Given the description of an element on the screen output the (x, y) to click on. 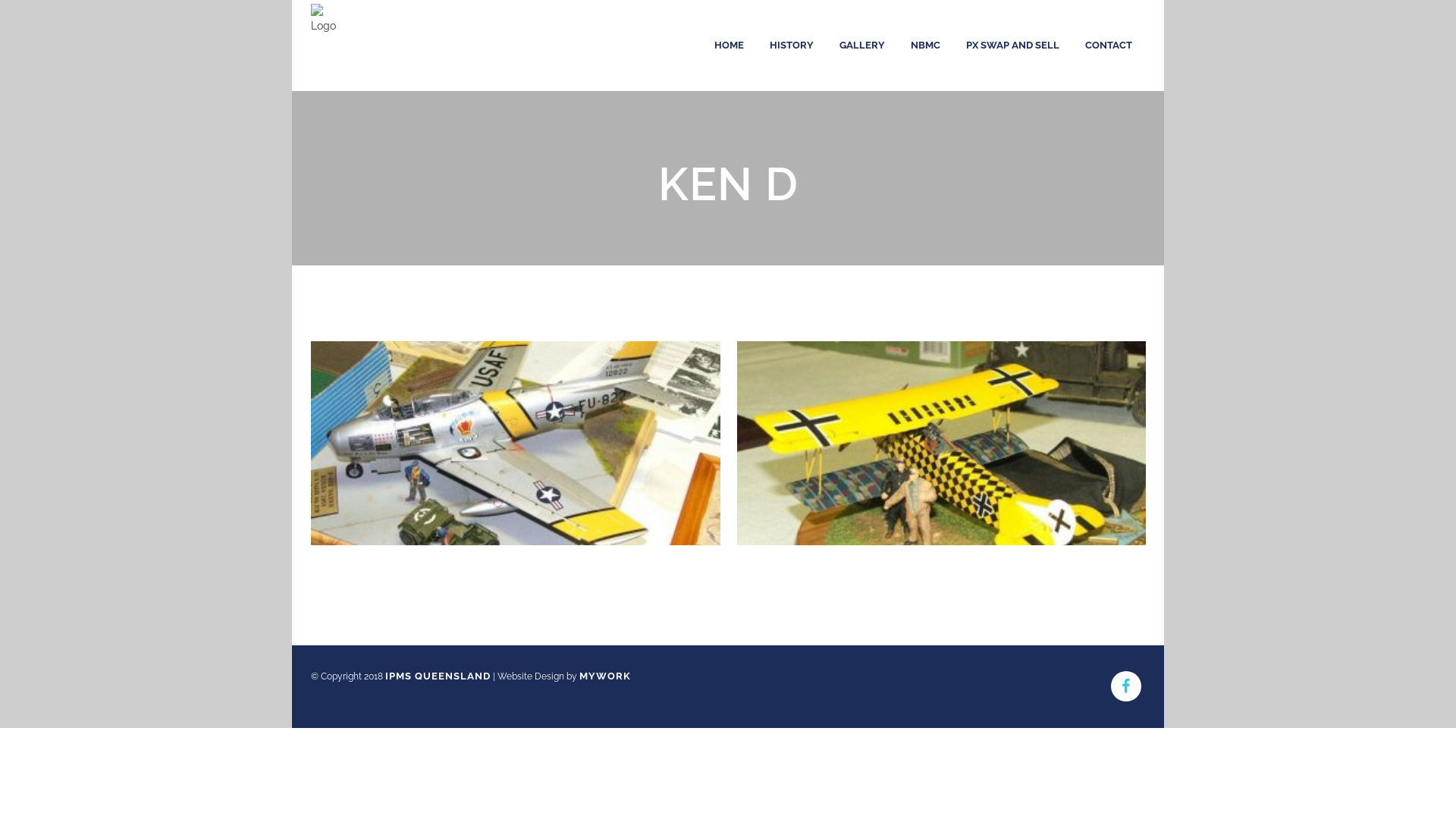
PX SWAP AND SELL Element type: text (1012, 45)
MYWORK Element type: text (604, 675)
HOME Element type: text (728, 45)
GALLERY Element type: text (861, 45)
CONTACT Element type: text (1108, 45)
FokkerD.VII-KenDixon Element type: hover (942, 443)
NBMC Element type: text (925, 45)
F-86FSabre1-32scale-KenDixon Element type: hover (515, 443)
IPMS QUEENSLAND Element type: text (437, 675)
HISTORY Element type: text (791, 45)
